Given the description of an element on the screen output the (x, y) to click on. 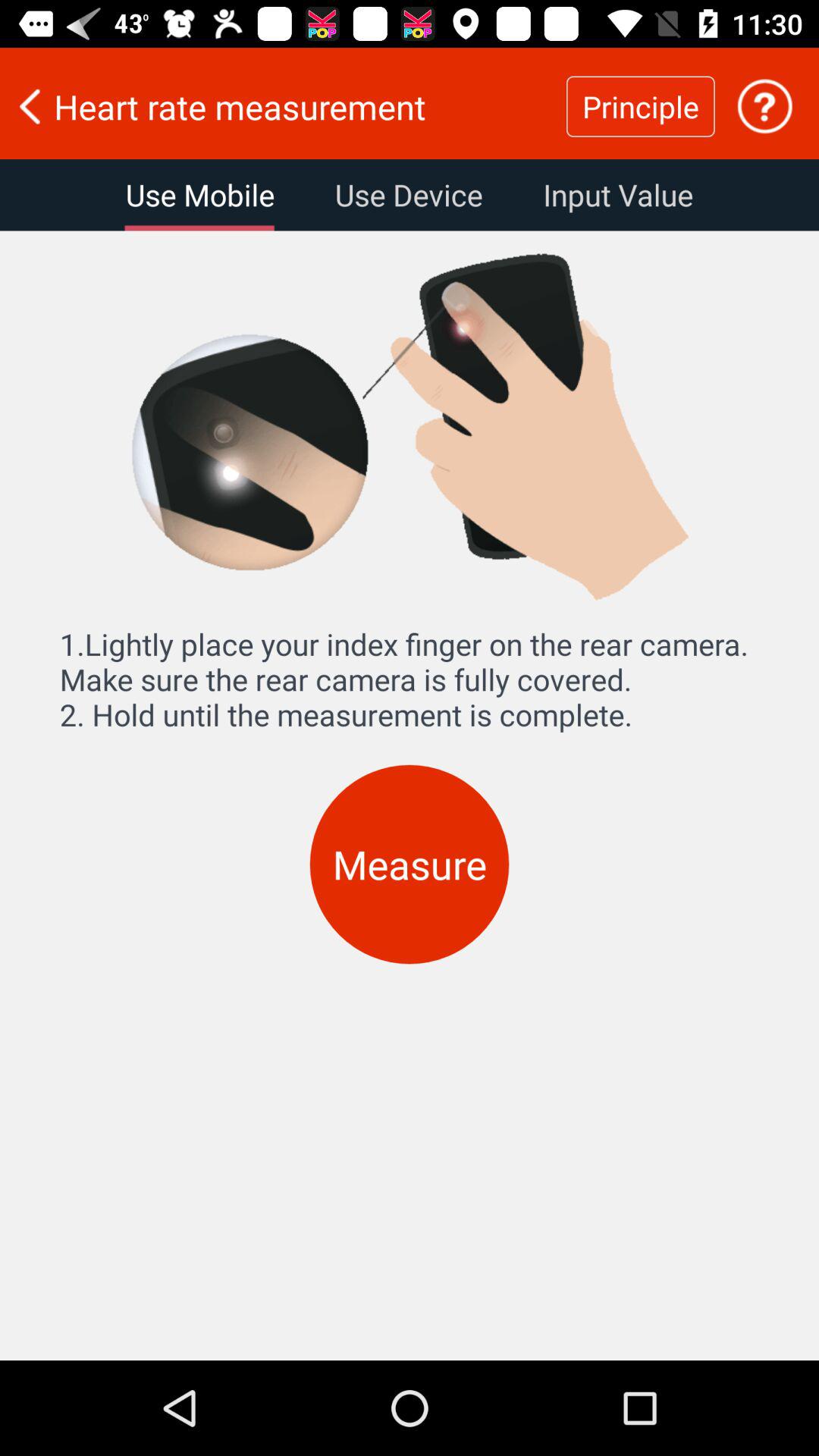
launch icon to the right of use device icon (618, 194)
